Given the description of an element on the screen output the (x, y) to click on. 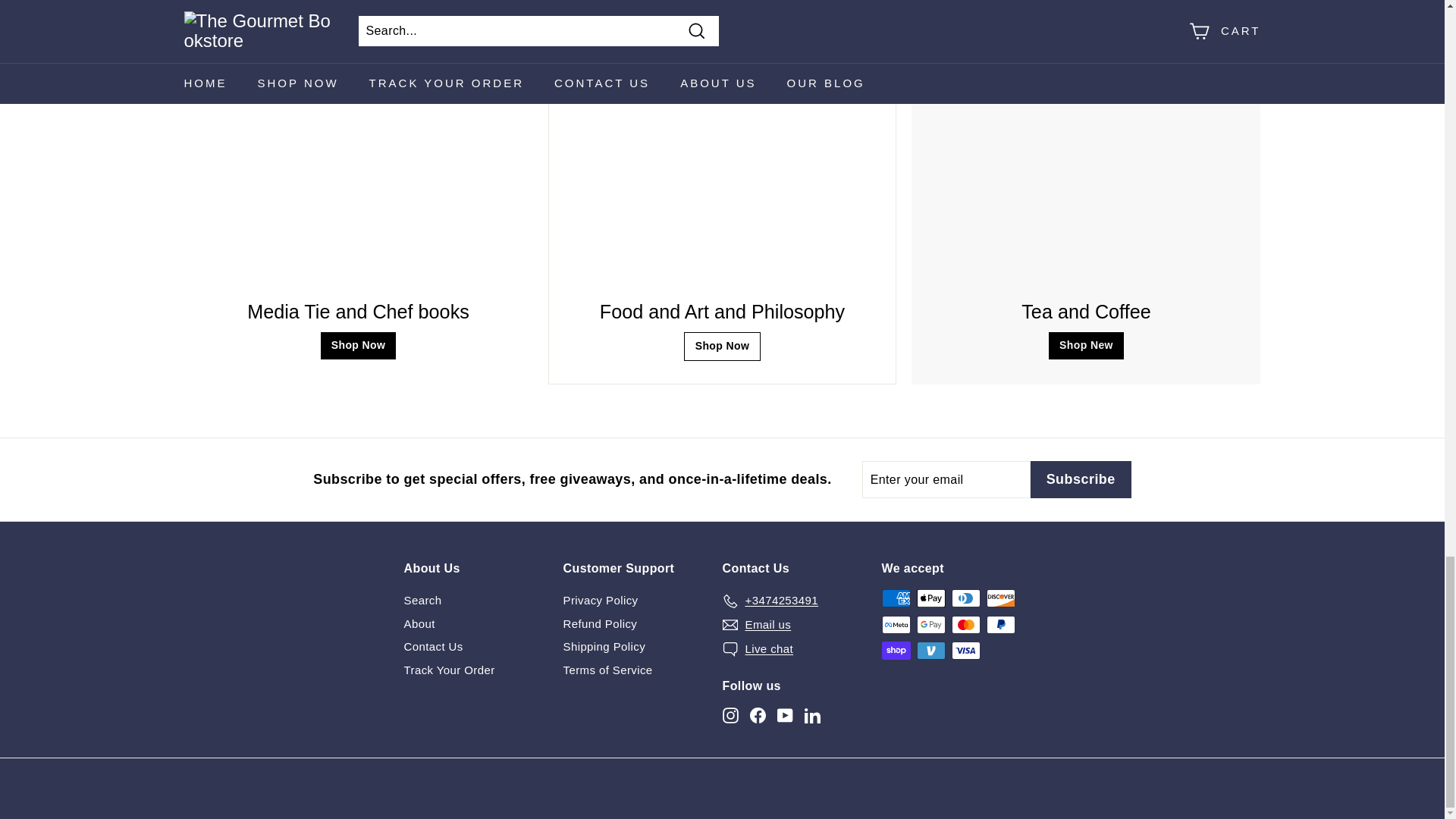
The Gourmet Bookstore on LinkedIn (811, 714)
Google Pay (929, 624)
Mastercard (964, 624)
American Express (895, 597)
The Gourmet Bookstore on YouTube (784, 714)
Diners Club (964, 597)
Apple Pay (929, 597)
Meta Pay (895, 624)
Discover (999, 597)
The Gourmet Bookstore on Instagram (730, 714)
